Given the description of an element on the screen output the (x, y) to click on. 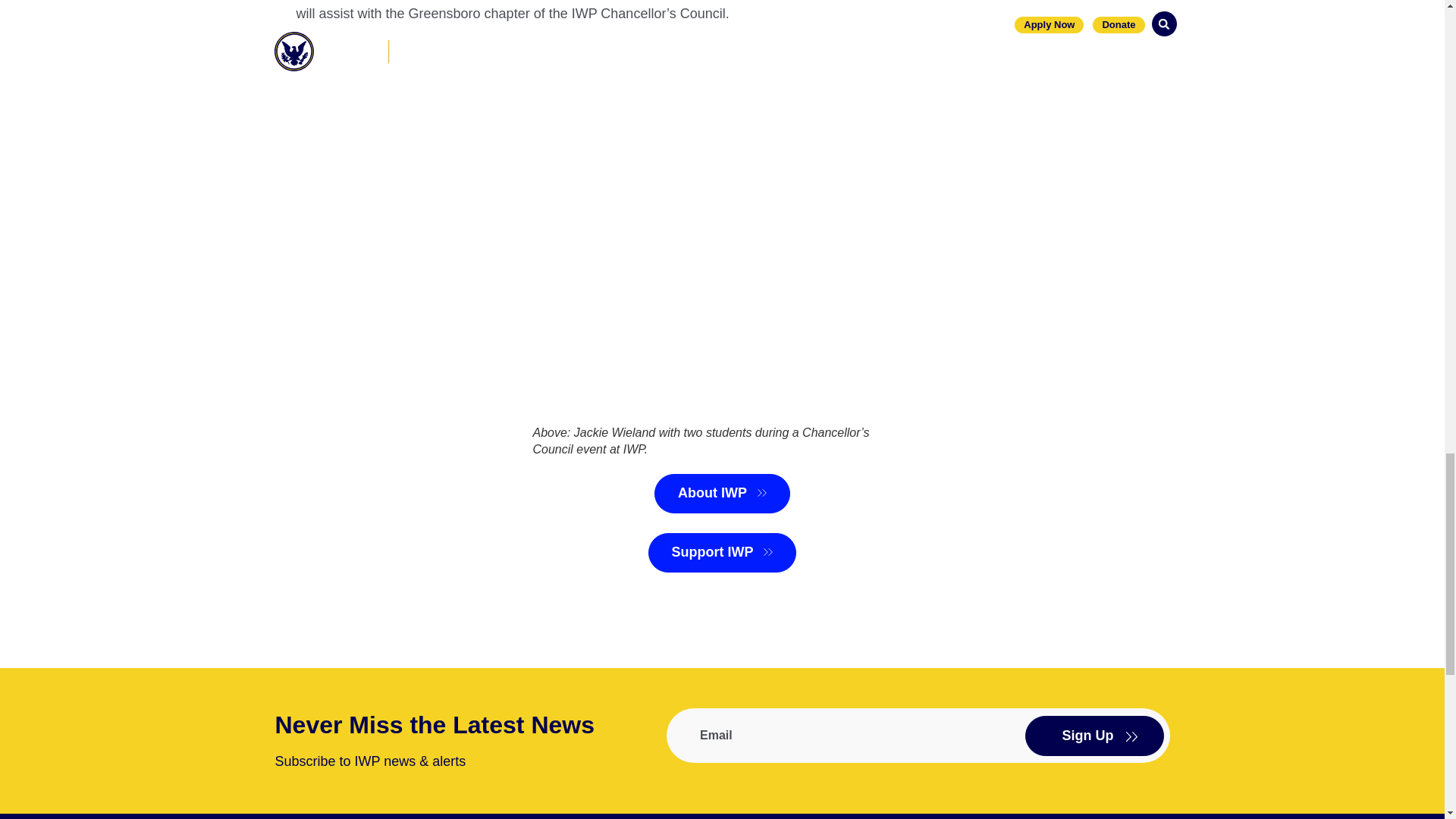
Sign Up (1094, 735)
